Given the description of an element on the screen output the (x, y) to click on. 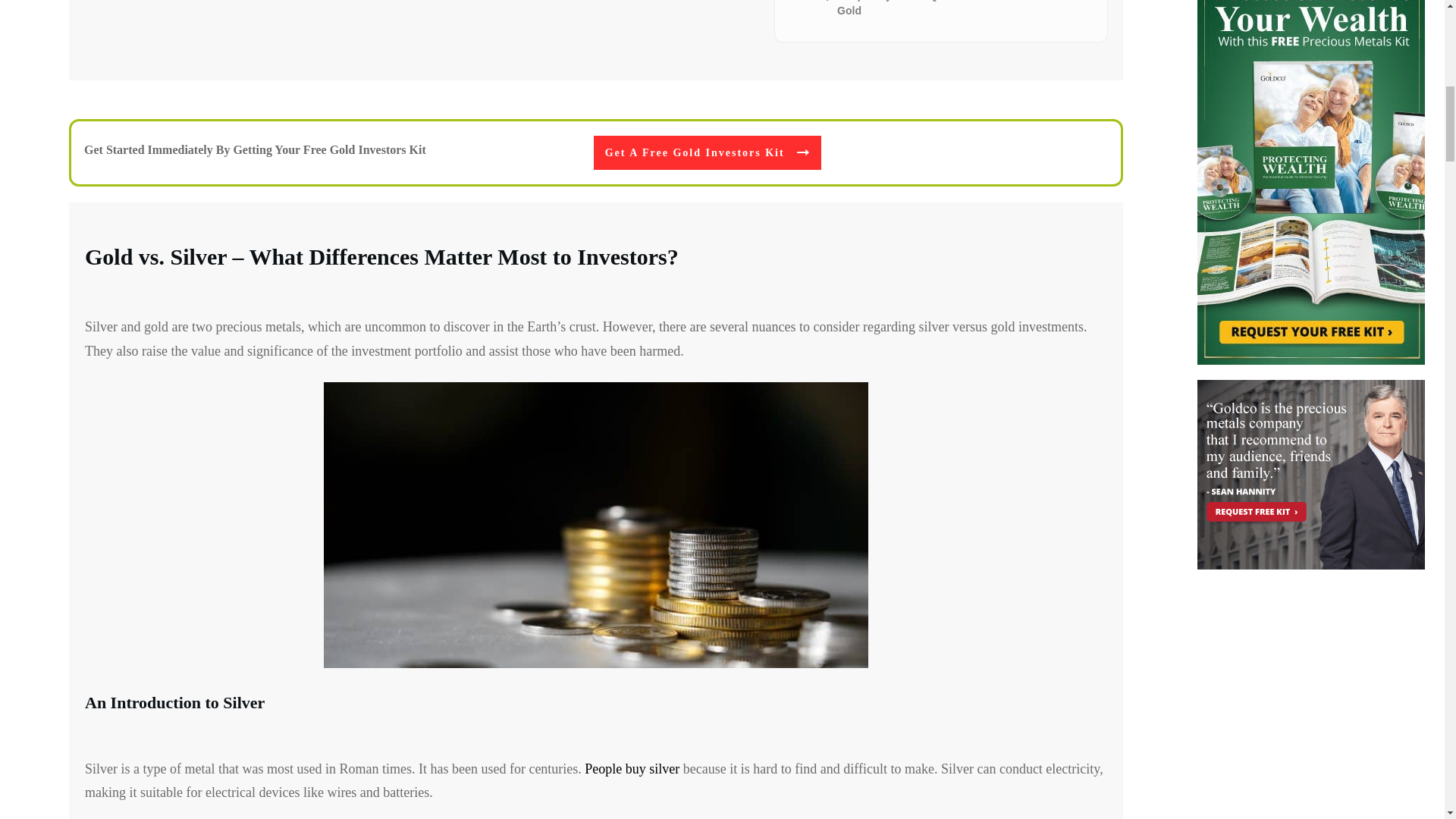
Frequently Asked Questions About Silver vs. Gold (958, 9)
Frequently Asked Questions About Silver vs. Gold (958, 9)
Get A Free Gold Investors Kit (707, 152)
People buy silver (632, 768)
